Given the description of an element on the screen output the (x, y) to click on. 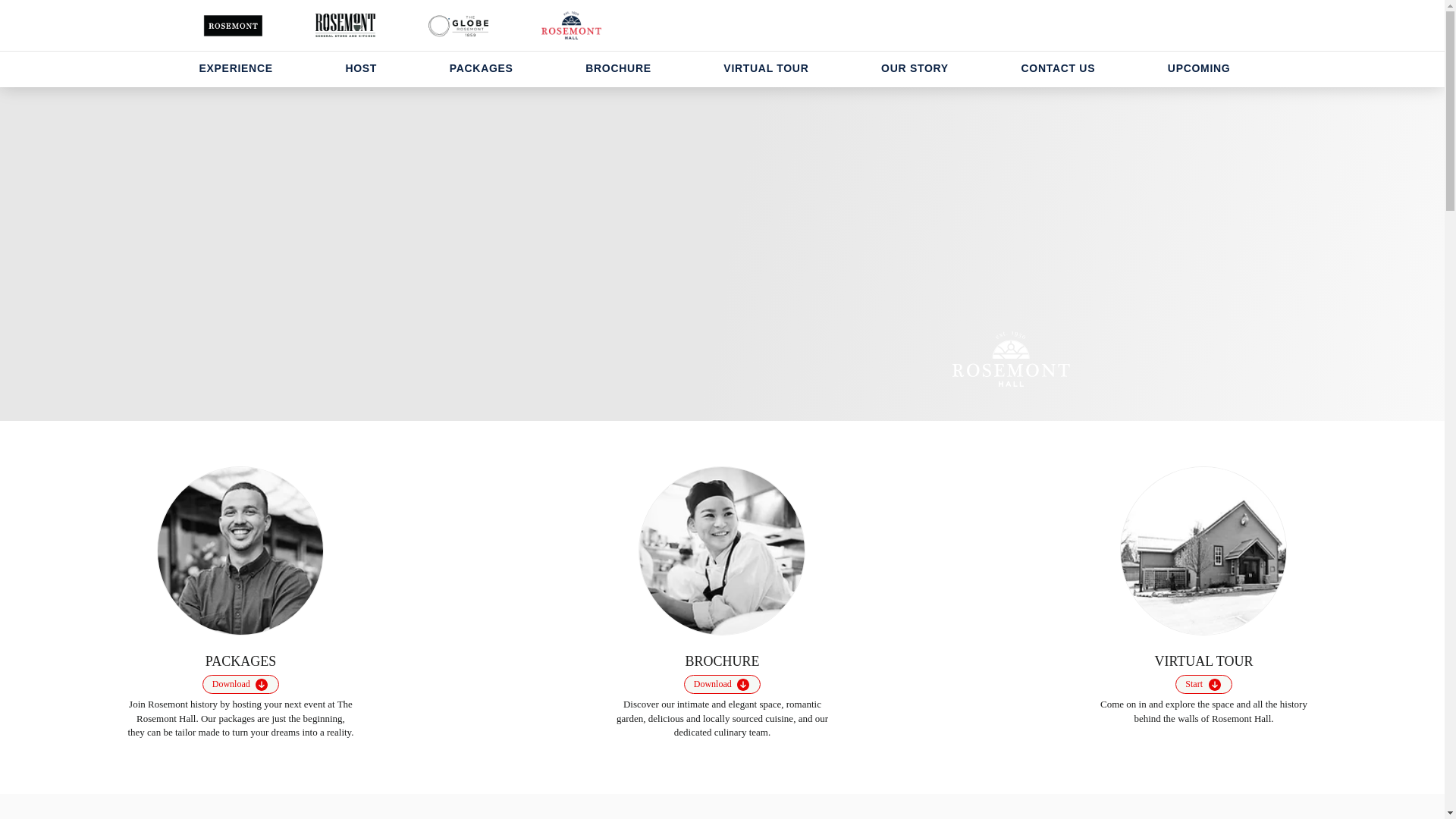
BROCHURE (618, 68)
OUR STORY (914, 68)
PACKAGES (480, 68)
CONTACT US (1057, 68)
VIRTUAL TOUR (765, 68)
HOST (360, 68)
UPCOMING (1199, 68)
EXPERIENCE (234, 68)
